Given the description of an element on the screen output the (x, y) to click on. 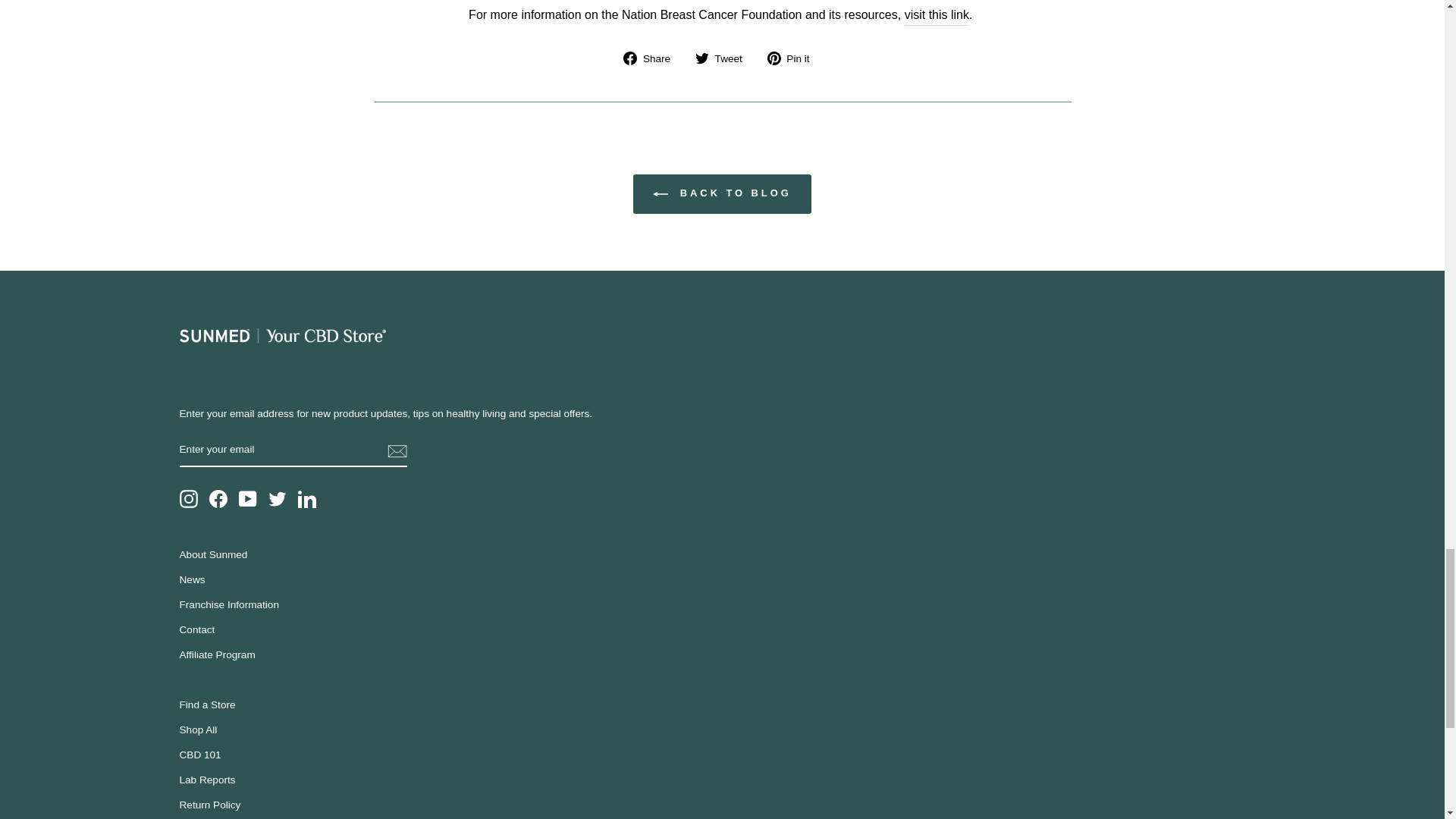
Share on Facebook (652, 57)
Sunmed CBD on YouTube (247, 498)
Sunmed CBD on Twitter (276, 498)
Sunmed CBD on LinkedIn (306, 498)
Tweet on Twitter (724, 57)
Sunmed CBD on Instagram (187, 498)
Sunmed CBD on Facebook (218, 498)
Pin on Pinterest (794, 57)
